Given the description of an element on the screen output the (x, y) to click on. 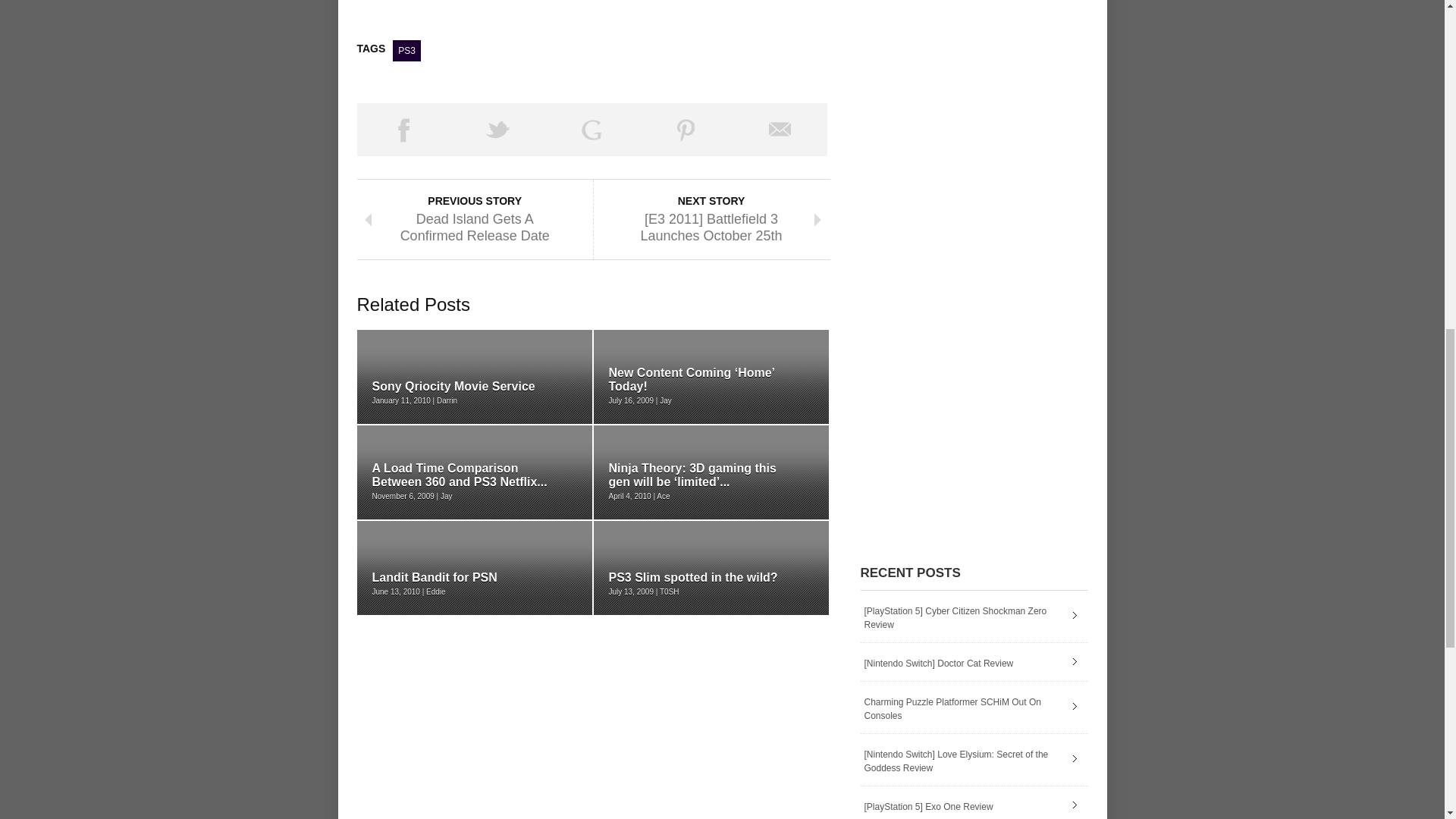
Advertisement (533, 15)
PS3 (406, 50)
